Given the description of an element on the screen output the (x, y) to click on. 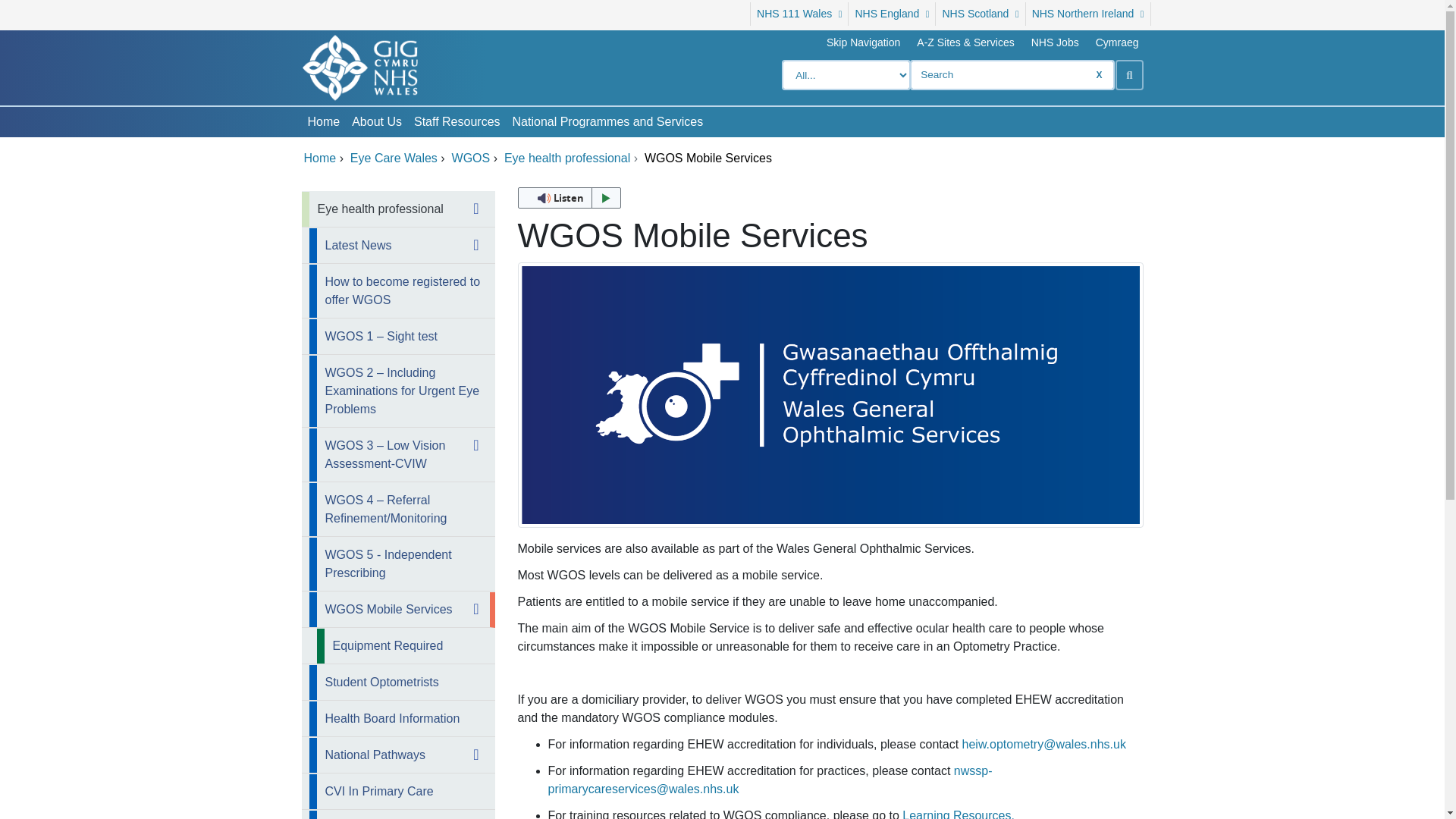
Open (479, 244)
Close (479, 208)
Close (479, 608)
NHS 111 Wales (798, 13)
NHS Jobs (1054, 42)
NHS Scotland (980, 13)
NHS England (891, 13)
NHS Northern Ireland (1088, 13)
National Programmes and Services (608, 122)
Cymraeg (1117, 42)
